Given the description of an element on the screen output the (x, y) to click on. 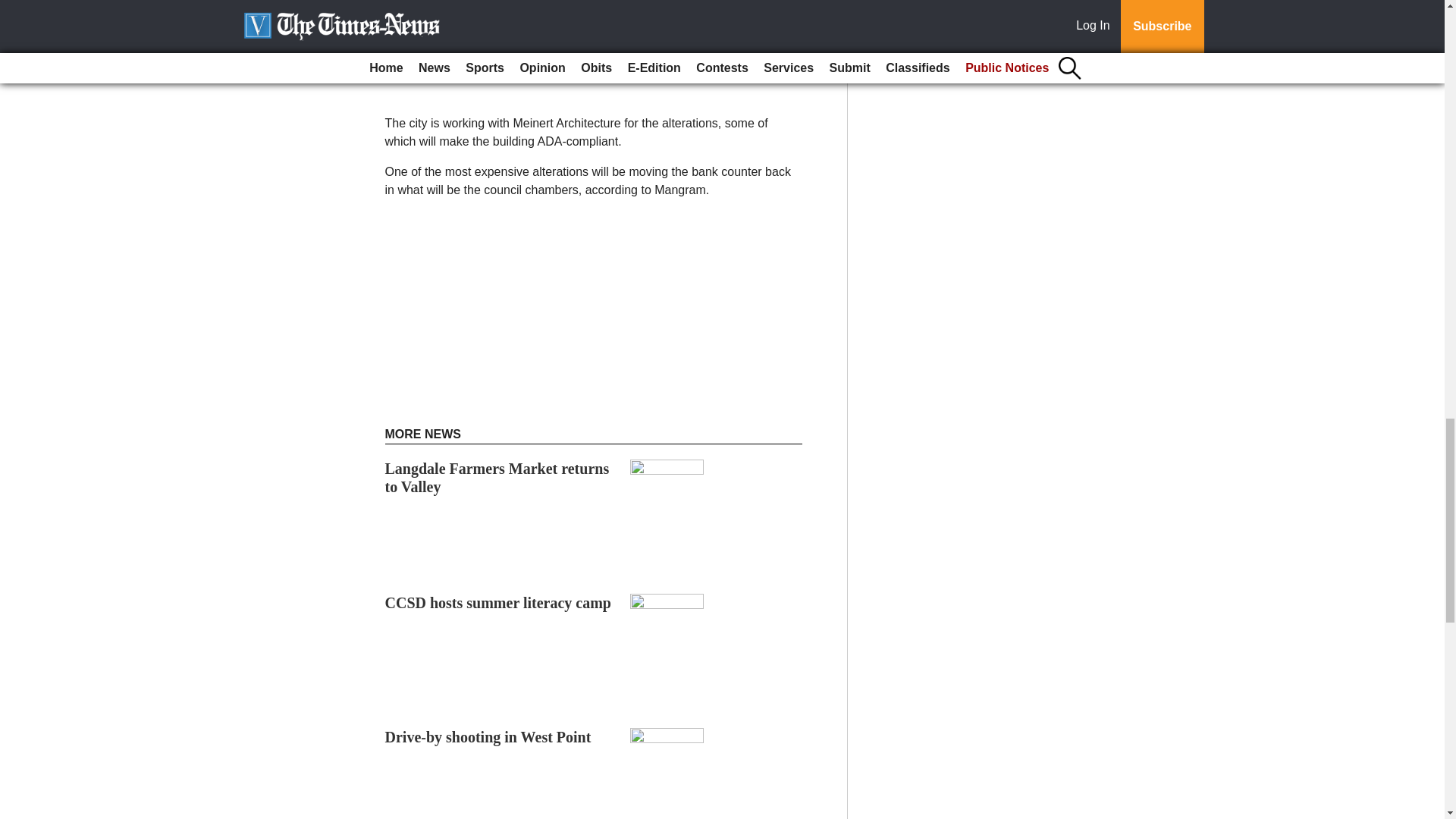
Drive-by shooting in West Point (488, 736)
CCSD hosts summer literacy camp (498, 602)
Langdale Farmers Market returns to Valley (497, 477)
Langdale Farmers Market returns to Valley (497, 477)
Drive-by shooting in West Point (488, 736)
CCSD hosts summer literacy camp (498, 602)
